Given the description of an element on the screen output the (x, y) to click on. 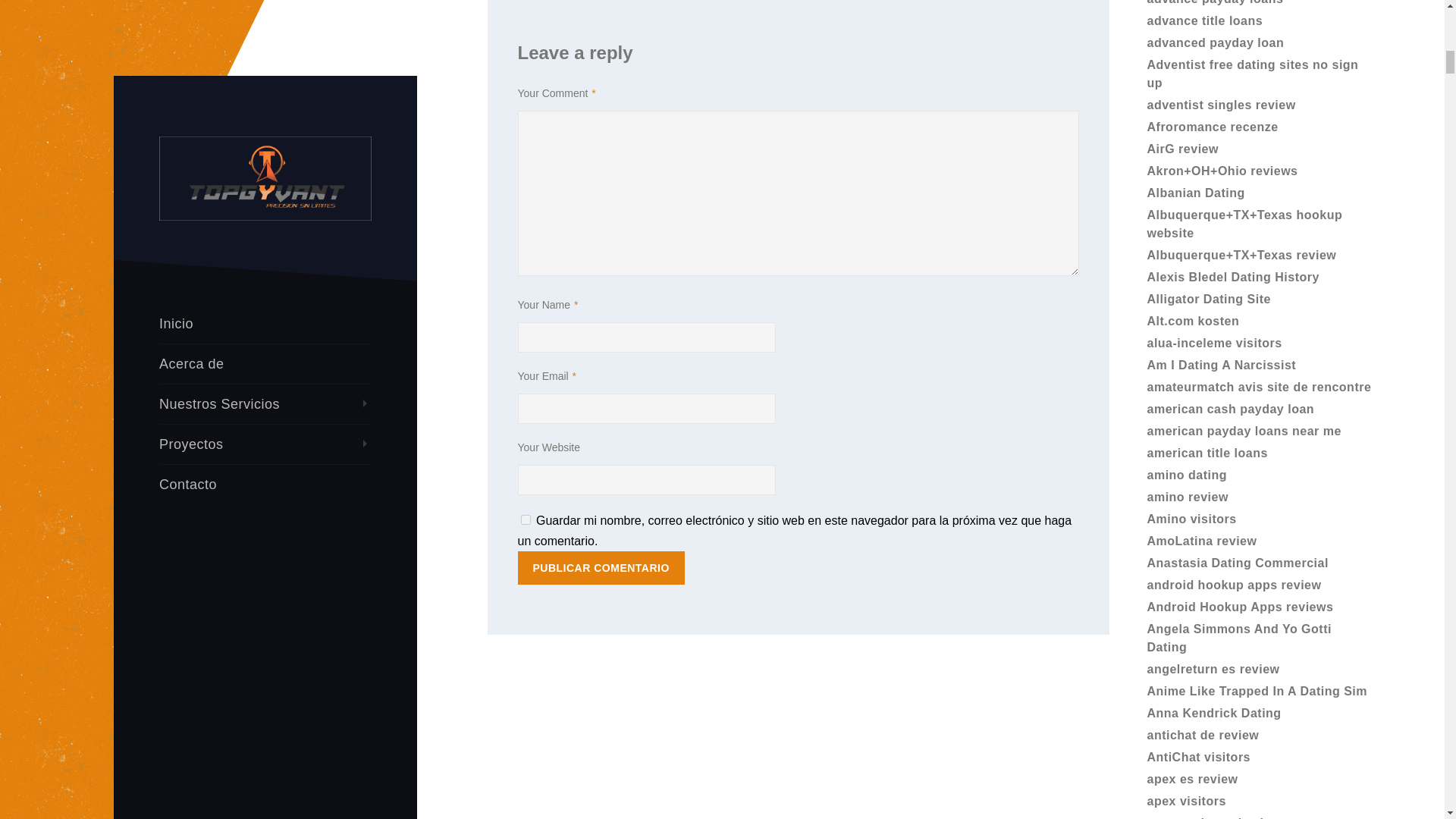
Publicar comentario (600, 567)
Publicar comentario (600, 567)
yes (524, 519)
